Given the description of an element on the screen output the (x, y) to click on. 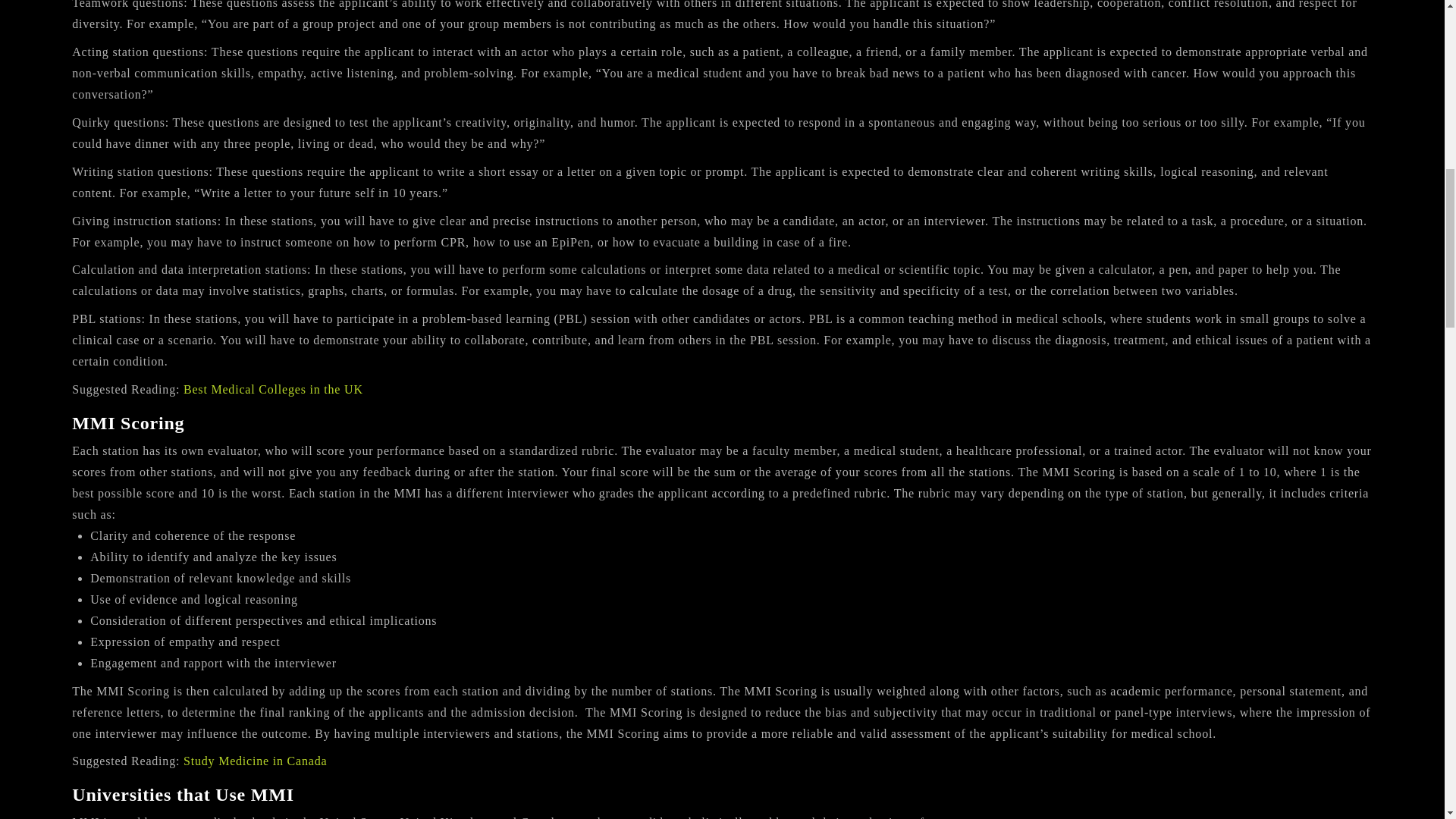
Best Medical Colleges in the UK (272, 389)
Study Medicine in Canada (254, 760)
